Given the description of an element on the screen output the (x, y) to click on. 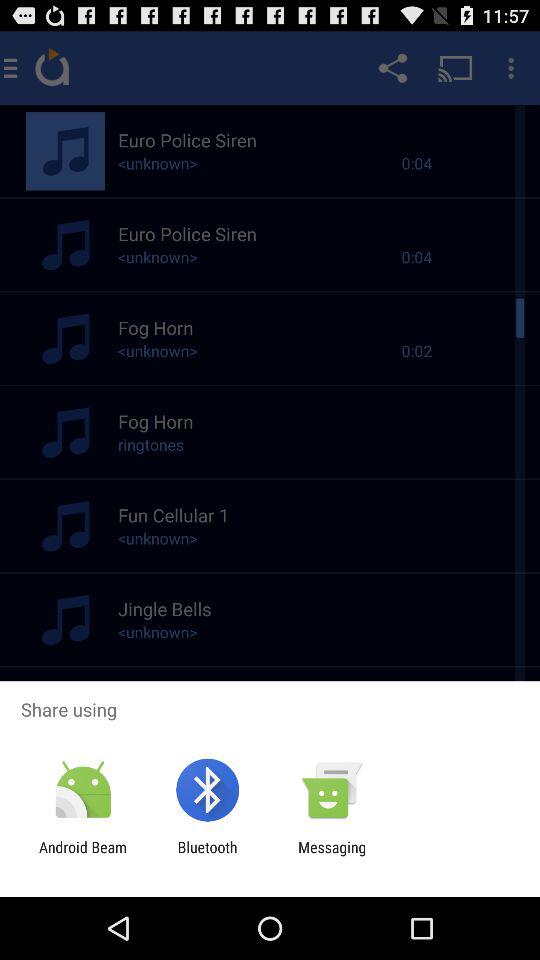
turn on item next to android beam (207, 856)
